Given the description of an element on the screen output the (x, y) to click on. 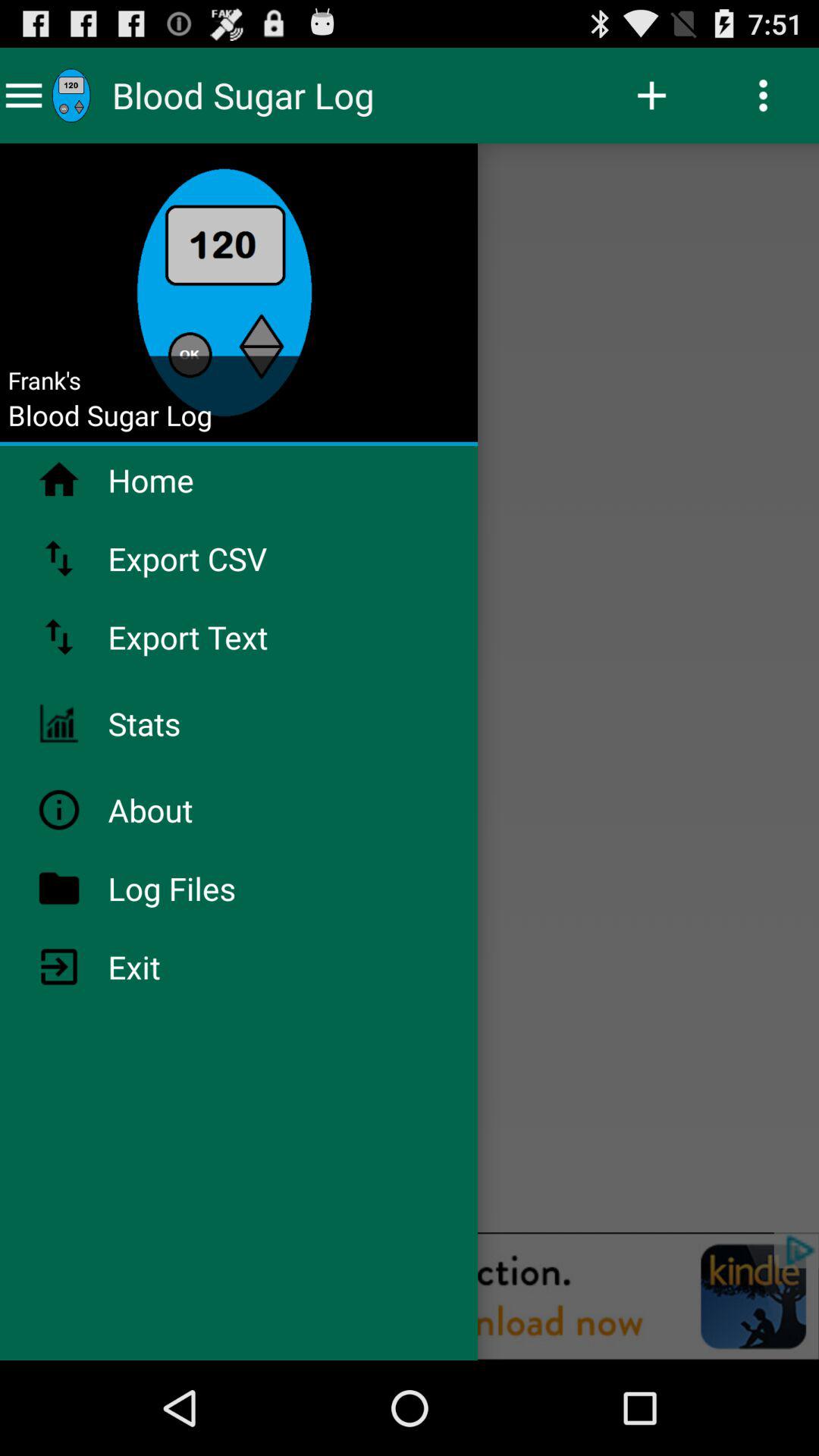
tap icon at the bottom (409, 1296)
